Given the description of an element on the screen output the (x, y) to click on. 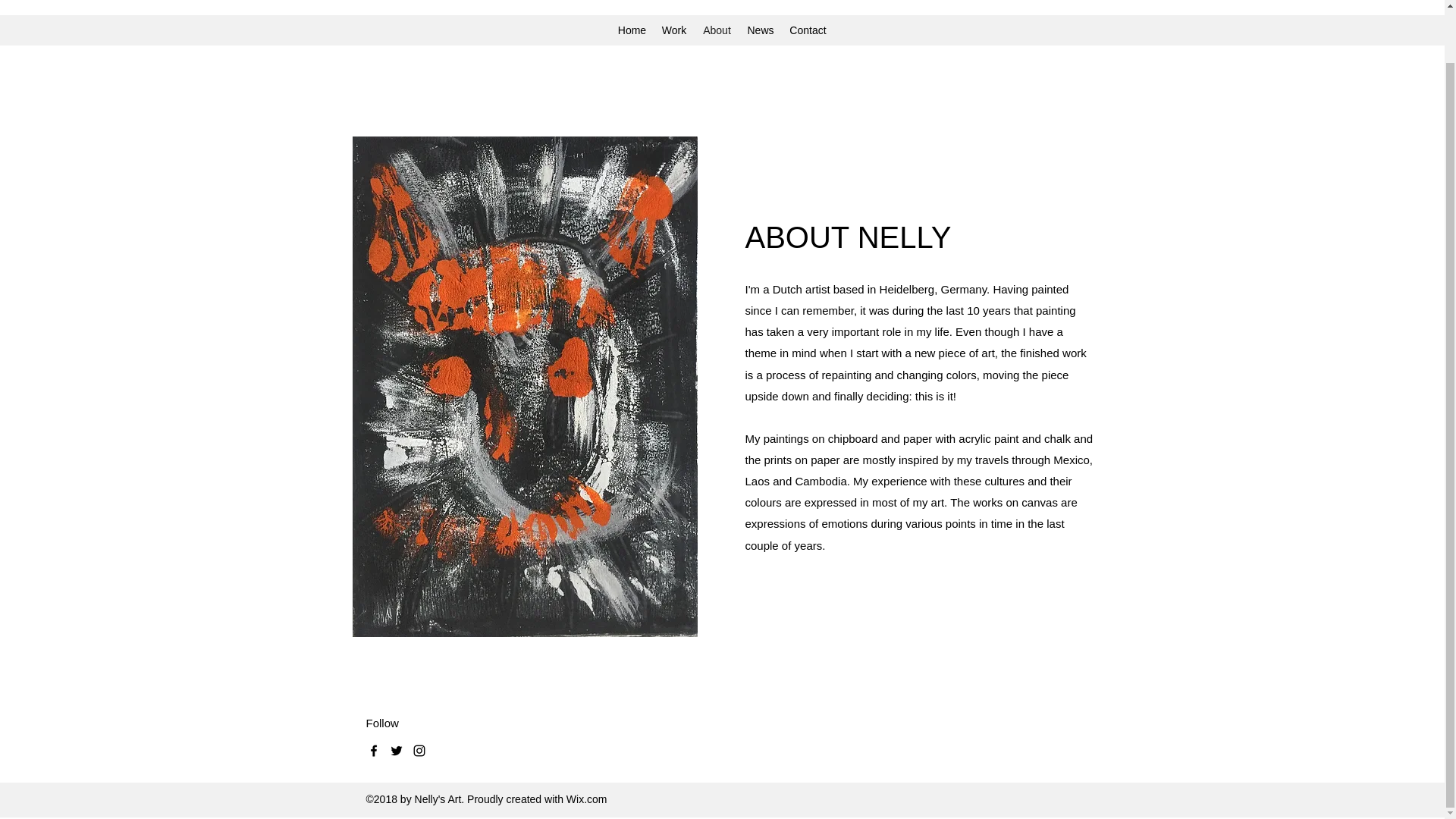
Home (631, 29)
News (759, 29)
About (716, 29)
Contact (807, 29)
Work (673, 29)
